Given the description of an element on the screen output the (x, y) to click on. 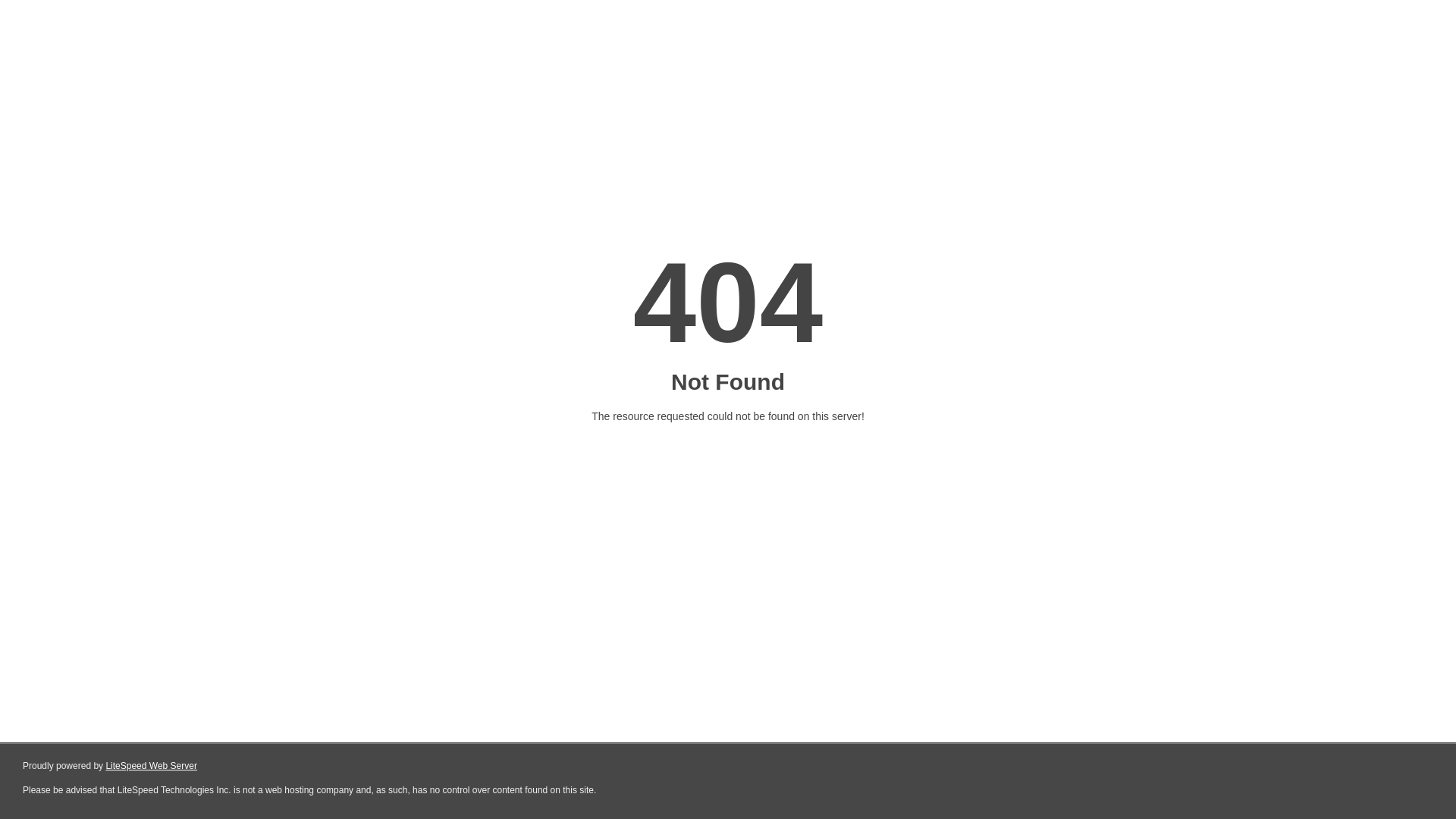
LiteSpeed Web Server Element type: text (151, 765)
